Given the description of an element on the screen output the (x, y) to click on. 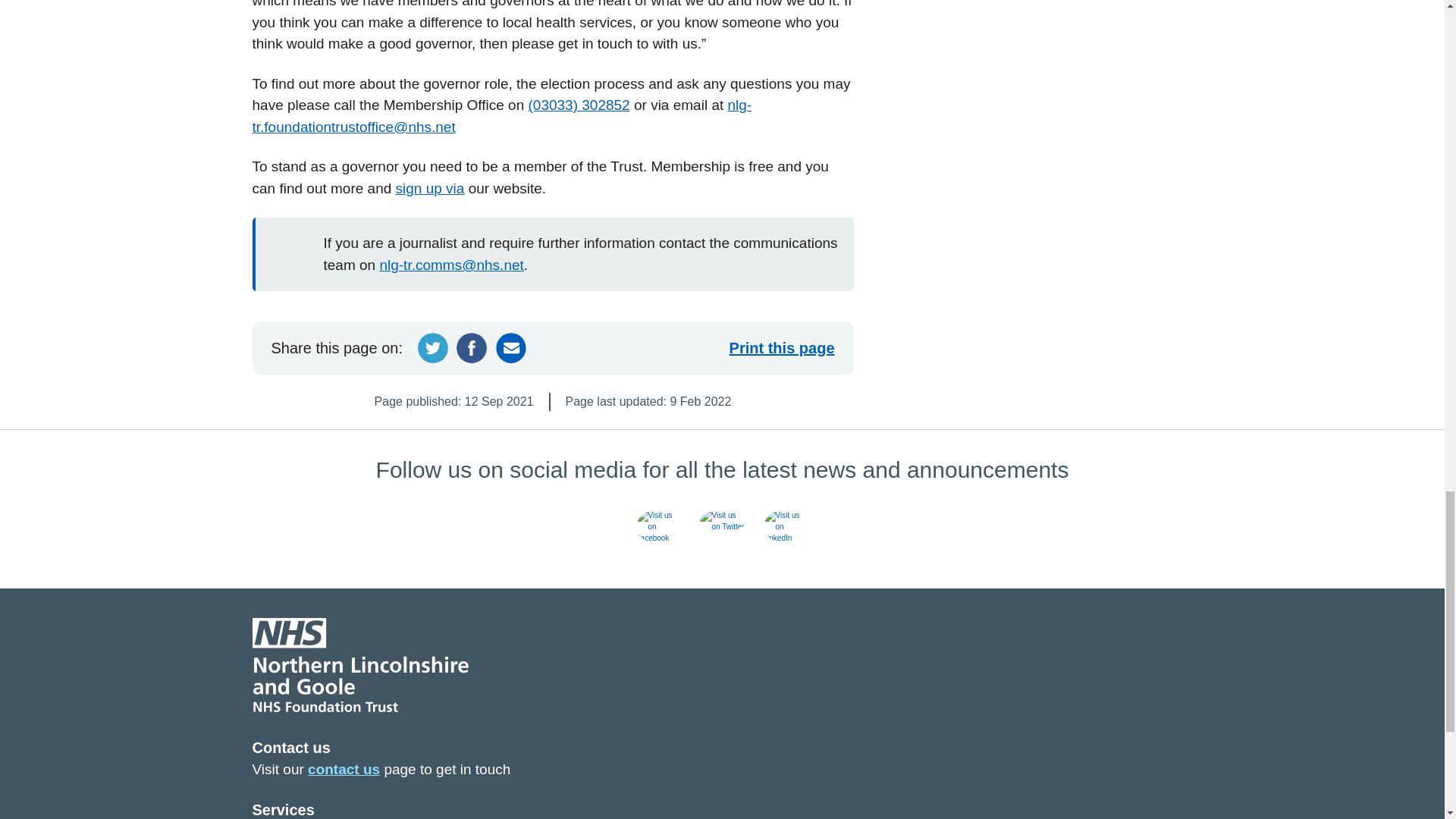
Share on Twitter (432, 347)
Share on Facebook (471, 347)
Share via Email (510, 347)
